Given the description of an element on the screen output the (x, y) to click on. 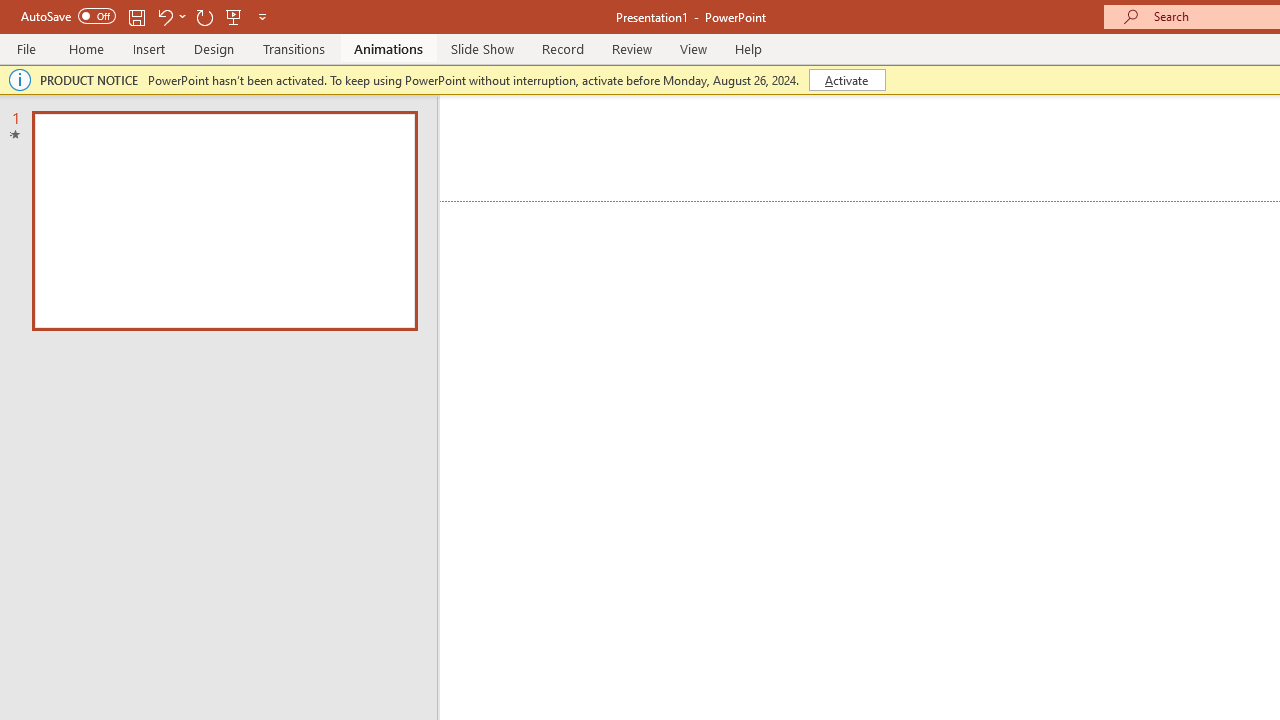
Center (756, 180)
Distributed (872, 180)
Phonetic Guide... (618, 137)
Line and Paragraph Spacing (927, 180)
Undo Typing (290, 31)
Font Color RGB(255, 0, 0) (556, 180)
Decrease Indent (906, 137)
Show/Hide Editing Marks (1098, 137)
Format Painter (112, 196)
Multilevel List (850, 137)
